Given the description of an element on the screen output the (x, y) to click on. 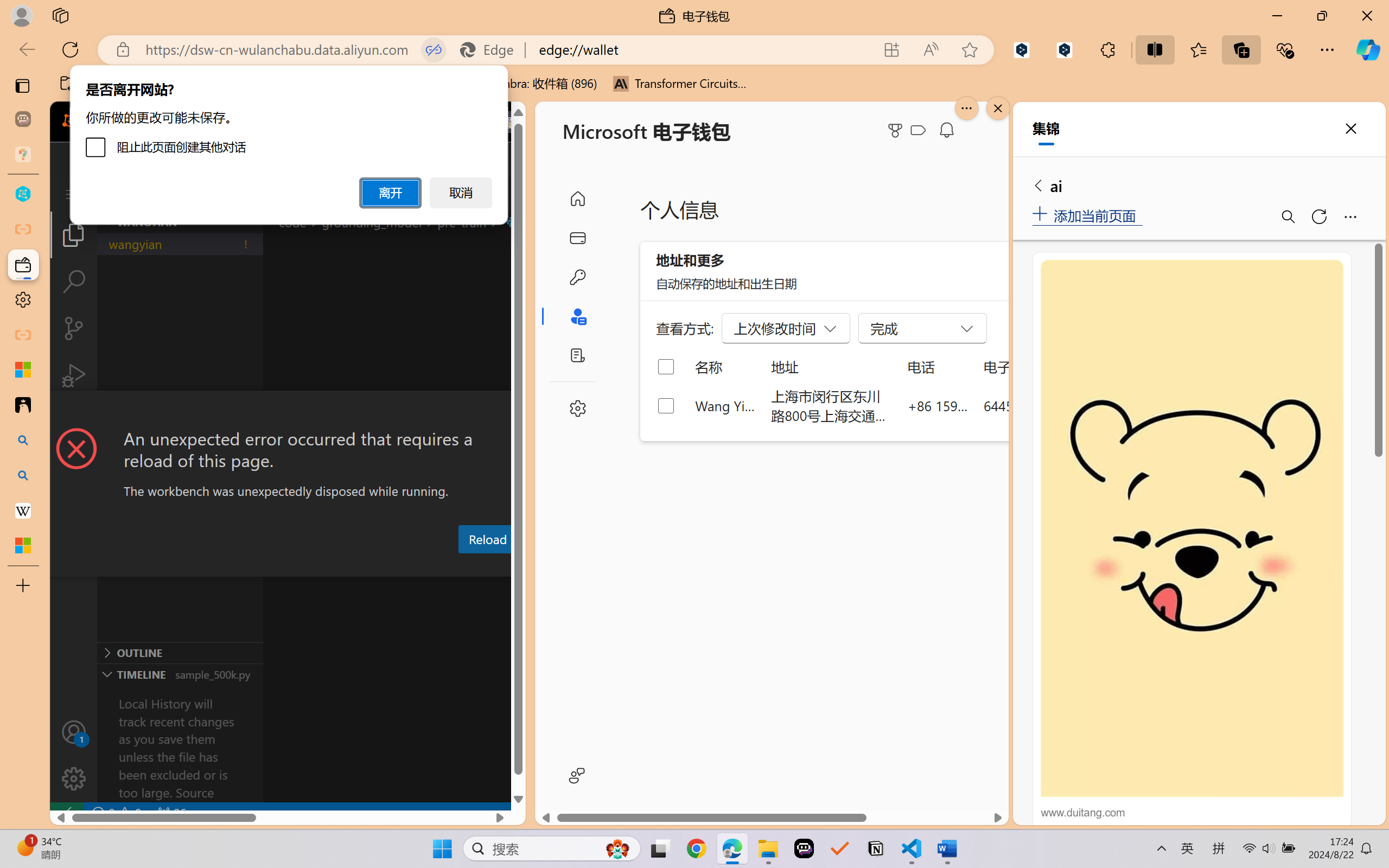
Debug Console (Ctrl+Shift+Y) (463, 565)
Reload (486, 538)
Transformer Circuits Thread (680, 83)
